Given the description of an element on the screen output the (x, y) to click on. 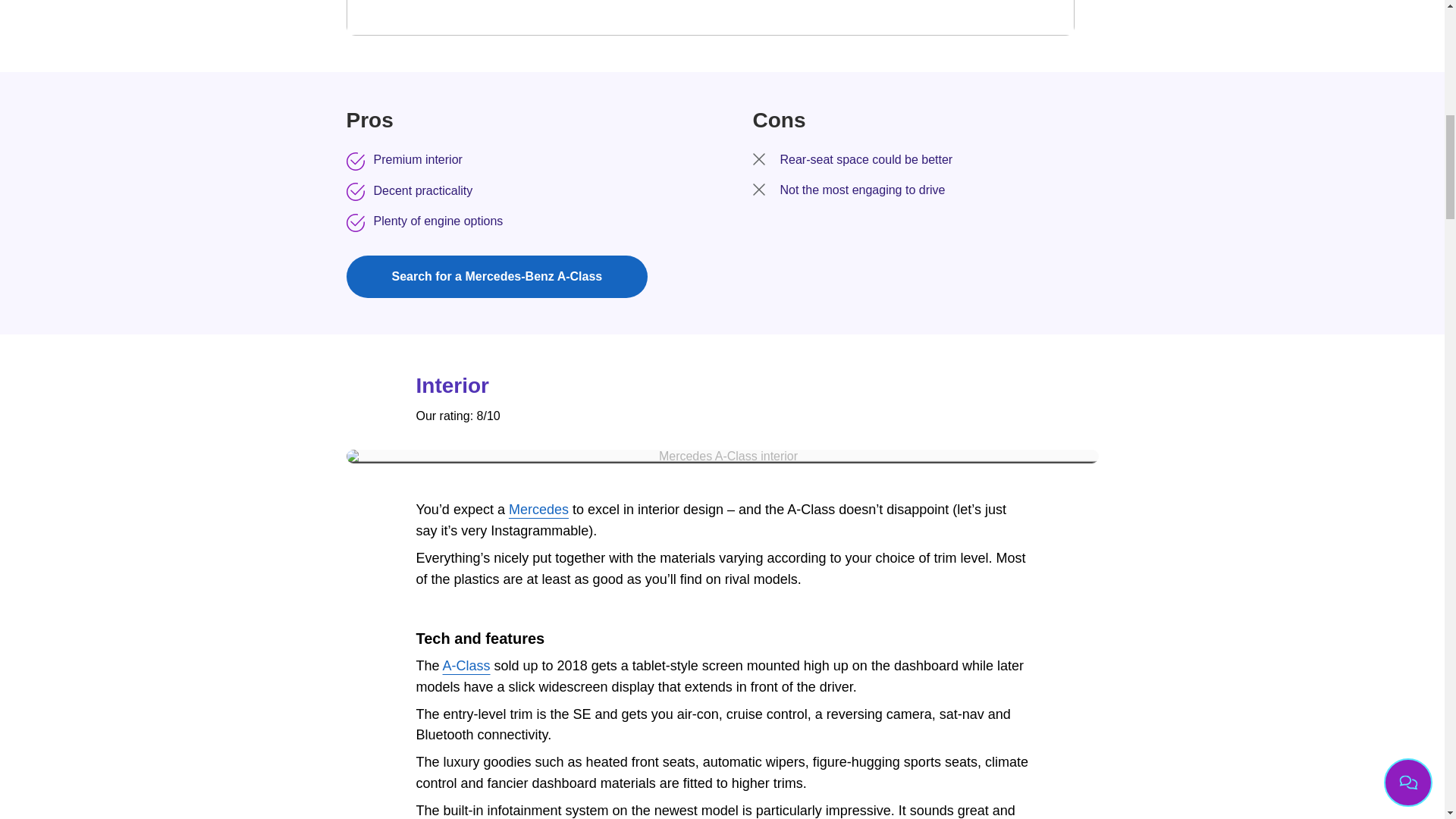
Mercedes (538, 509)
Search for a Mercedes-Benz A-Class (496, 276)
A-Class (466, 665)
